Given the description of an element on the screen output the (x, y) to click on. 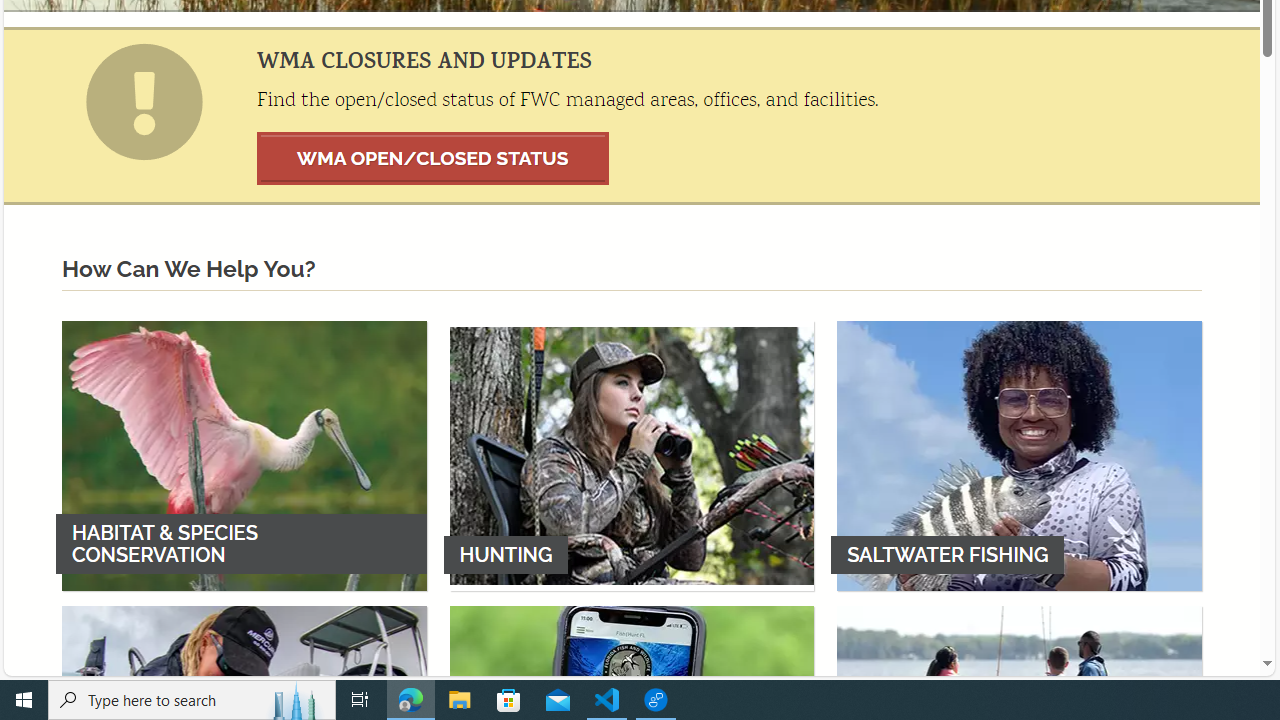
SALTWATER FISHING (1019, 455)
HABITAT & SPECIES CONSERVATION (244, 455)
HUNTING (632, 455)
WMA OPEN/CLOSED STATUS (433, 158)
